Given the description of an element on the screen output the (x, y) to click on. 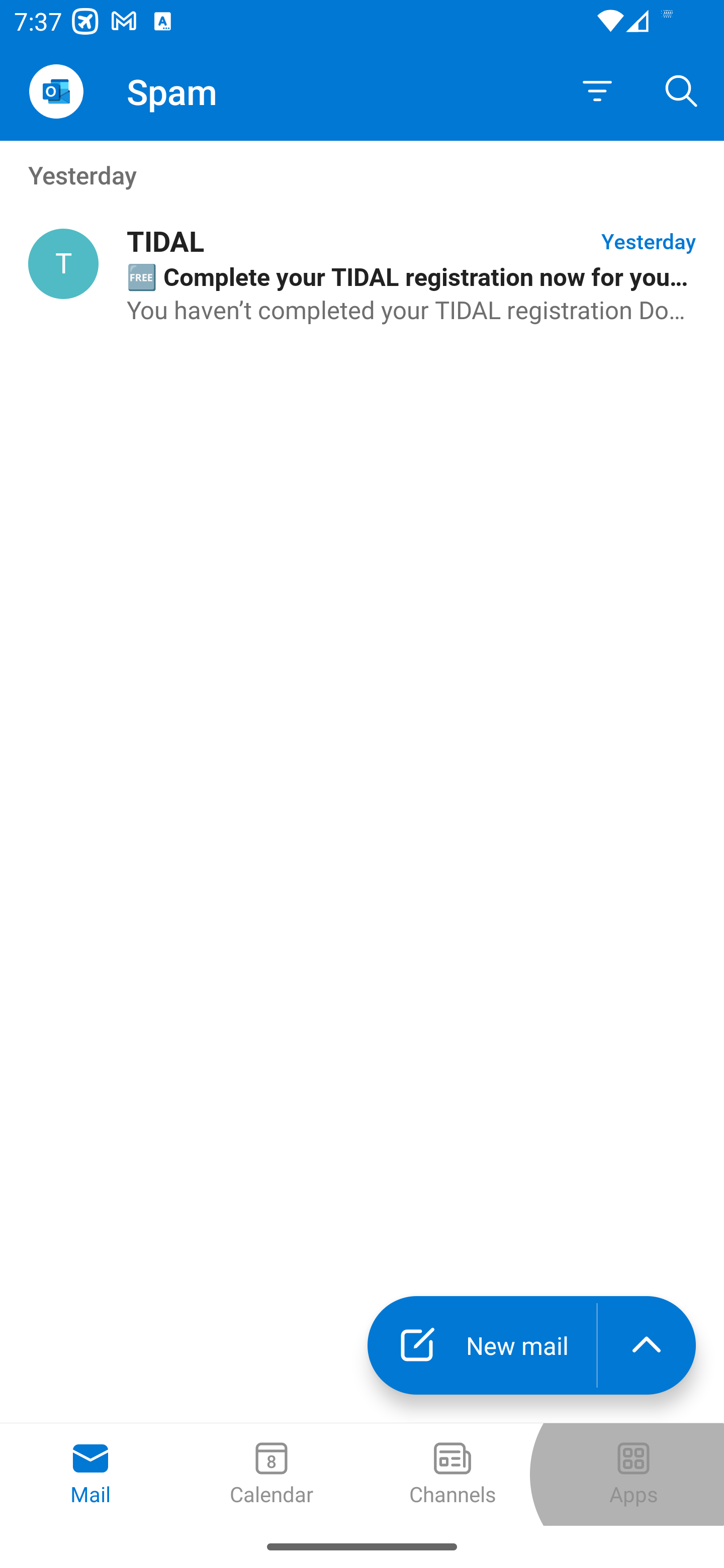
Search, ,  (681, 90)
Open Navigation Drawer (55, 91)
Filter (597, 91)
TIDAL, hello@email.tidal.com (63, 263)
New mail (481, 1344)
launch the extended action menu (646, 1344)
Calendar (271, 1474)
Channels (452, 1474)
Apps (633, 1474)
